Given the description of an element on the screen output the (x, y) to click on. 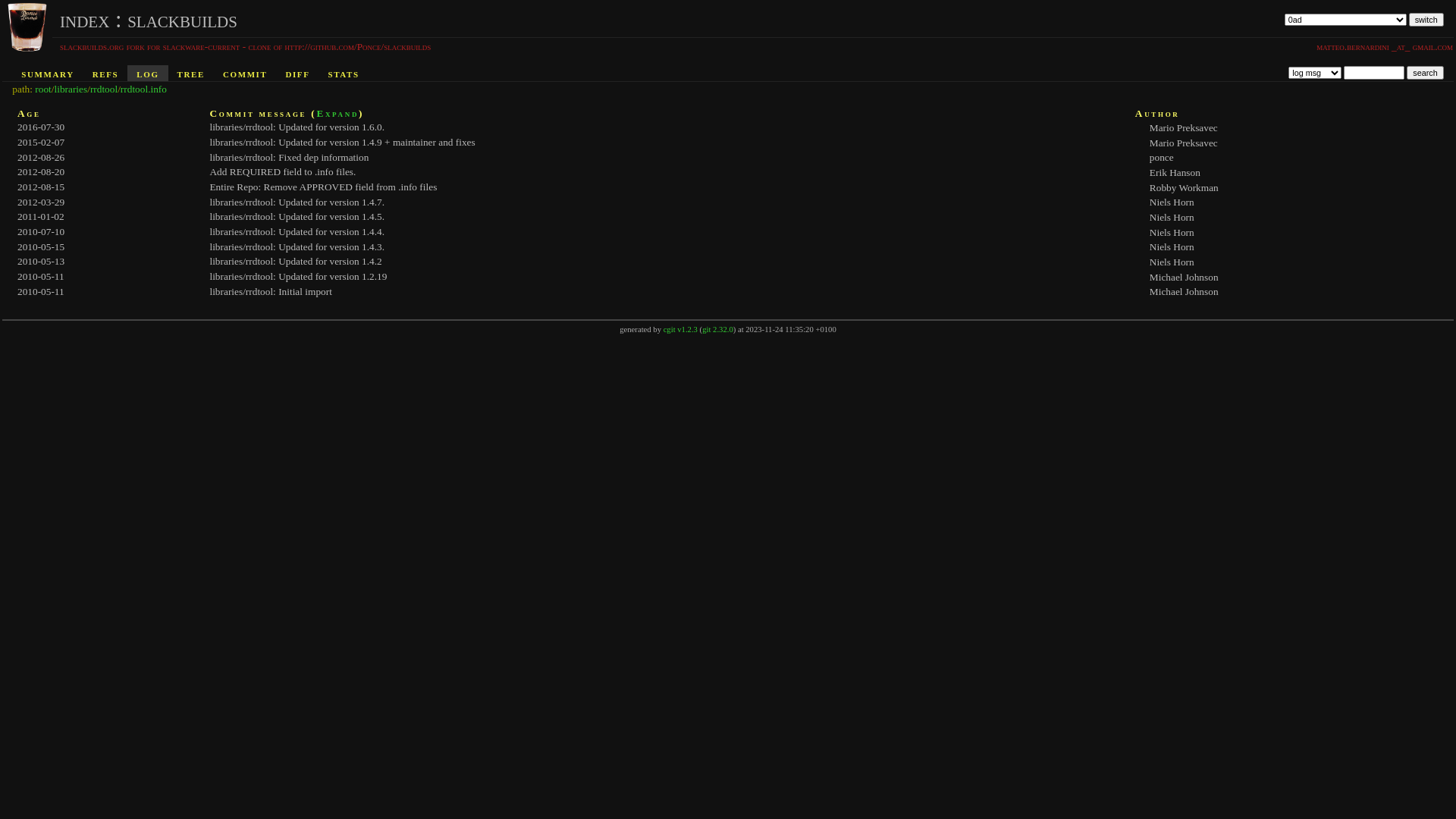
switch Element type: text (1425, 19)
root Element type: text (42, 88)
log Element type: text (147, 73)
Entire Repo: Remove APPROVED field from .info files Element type: text (322, 186)
summary Element type: text (47, 73)
libraries/rrdtool: Updated for version 1.4.4. Element type: text (296, 231)
libraries/rrdtool: Updated for version 1.4.2 Element type: text (295, 260)
libraries/rrdtool: Updated for version 1.6.0. Element type: text (296, 126)
libraries/rrdtool: Fixed dep information Element type: text (288, 157)
rrdtool Element type: text (103, 88)
diff Element type: text (297, 73)
Add REQUIRED field to .info files. Element type: text (282, 171)
libraries Element type: text (70, 88)
rrdtool.info Element type: text (143, 88)
slackbuilds Element type: text (182, 19)
libraries/rrdtool: Updated for version 1.4.5. Element type: text (296, 216)
cgit v1.2.3 Element type: text (680, 328)
index Element type: text (84, 19)
libraries/rrdtool: Updated for version 1.4.7. Element type: text (296, 201)
stats Element type: text (343, 73)
git 2.32.0 Element type: text (717, 328)
libraries/rrdtool: Updated for version 1.4.3. Element type: text (296, 246)
tree Element type: text (190, 73)
libraries/rrdtool: Updated for version 1.2.19 Element type: text (297, 276)
search Element type: text (1424, 72)
commit Element type: text (244, 73)
libraries/rrdtool: Initial import Element type: text (270, 291)
Expand Element type: text (337, 113)
refs Element type: text (105, 73)
